Given the description of an element on the screen output the (x, y) to click on. 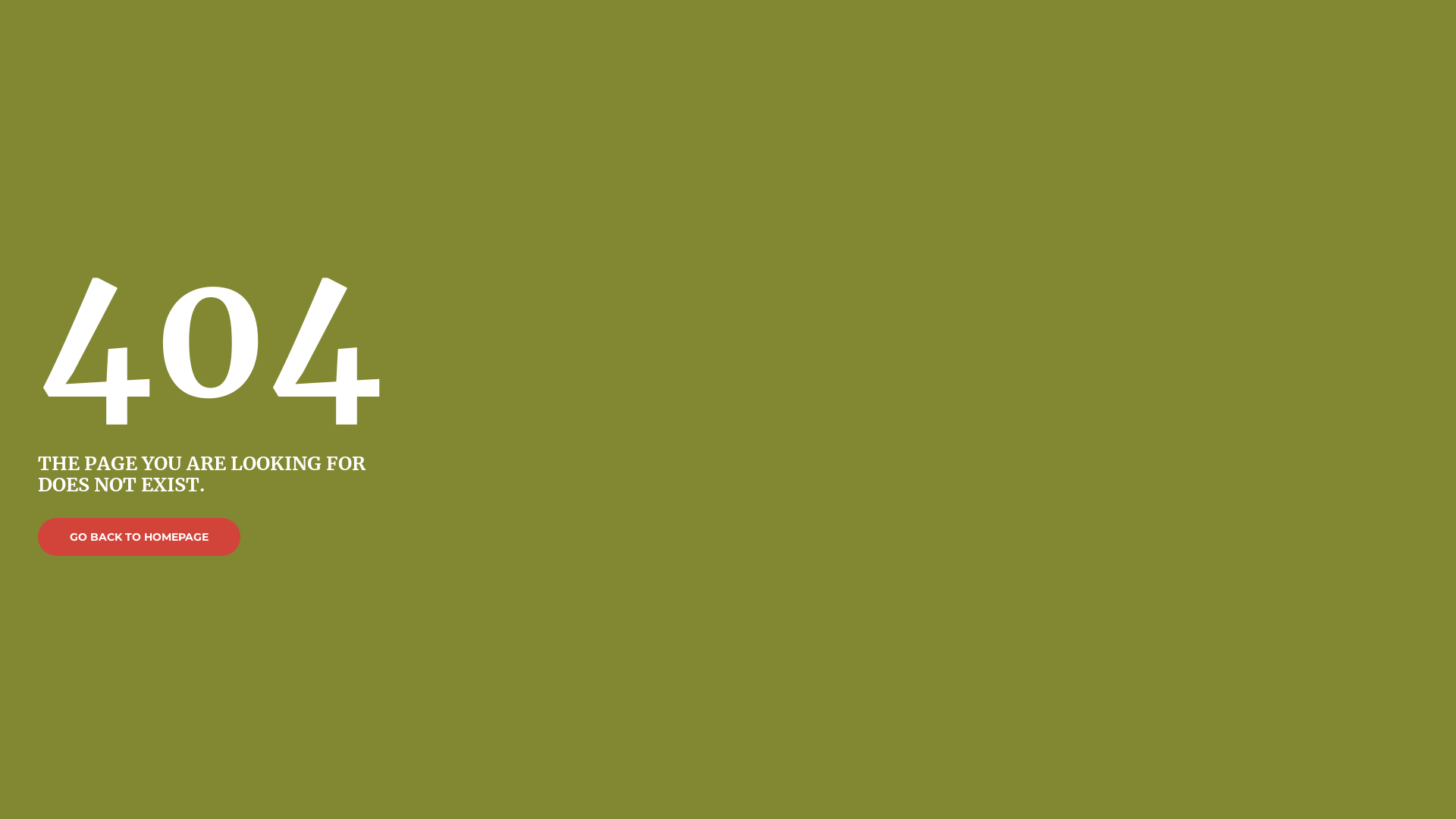
GO BACK TO HOMEPAGE Element type: text (138, 536)
